Given the description of an element on the screen output the (x, y) to click on. 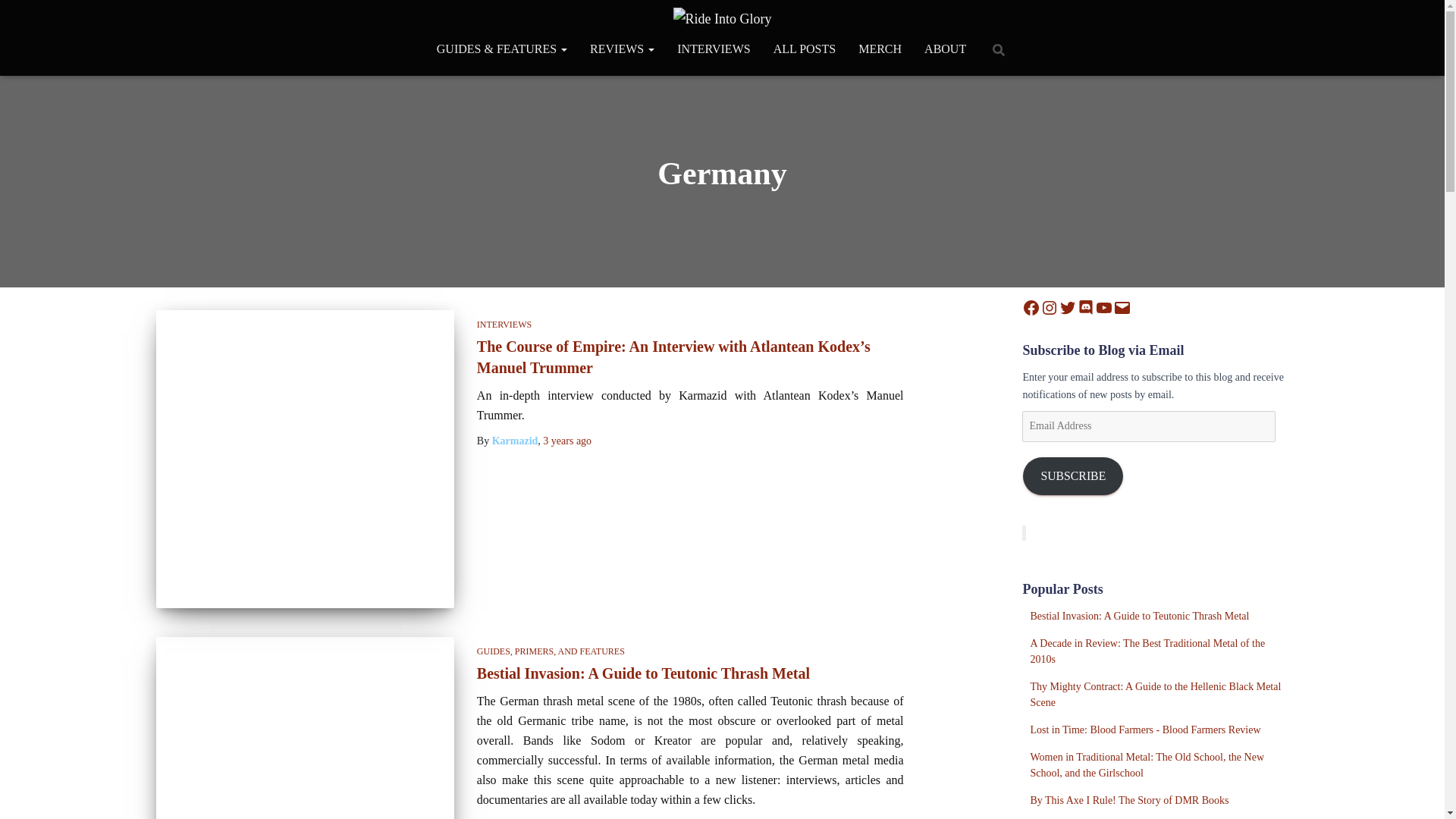
Search (16, 16)
Bestial Invasion: A Guide to Teutonic Thrash Metal (643, 673)
Ride Into Glory (722, 18)
ALL POSTS (804, 48)
ABOUT (944, 48)
REVIEWS (621, 48)
GUIDES, PRIMERS, AND FEATURES (550, 651)
3 years ago (567, 440)
Karmazid (515, 440)
MERCH (879, 48)
